Given the description of an element on the screen output the (x, y) to click on. 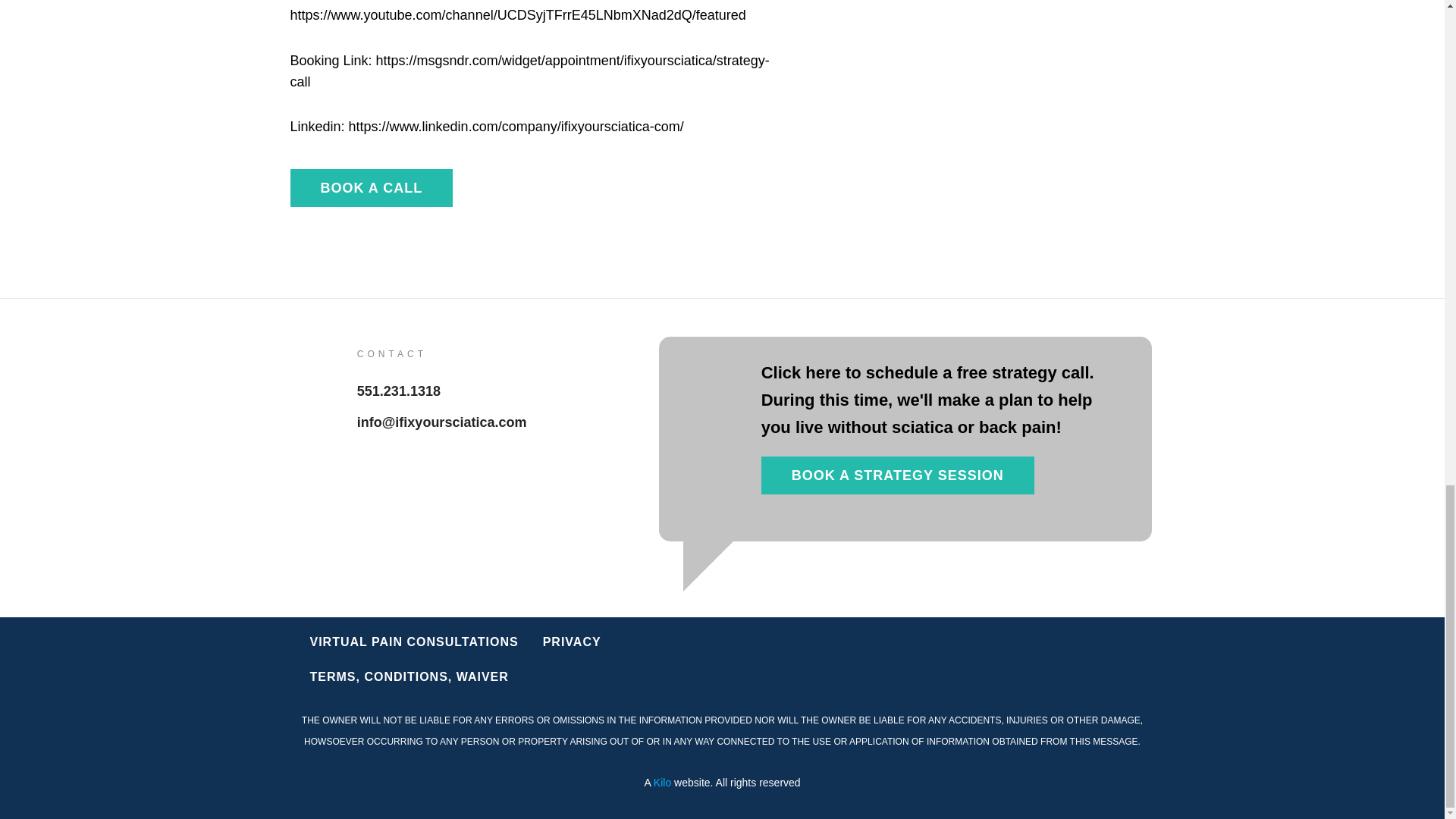
PRIVACY (571, 642)
TERMS, CONDITIONS, WAIVER (408, 677)
BOOK A CALL (370, 187)
551.231.1318 (398, 391)
BOOK A STRATEGY SESSION (897, 475)
VIRTUAL PAIN CONSULTATIONS (413, 642)
